Given the description of an element on the screen output the (x, y) to click on. 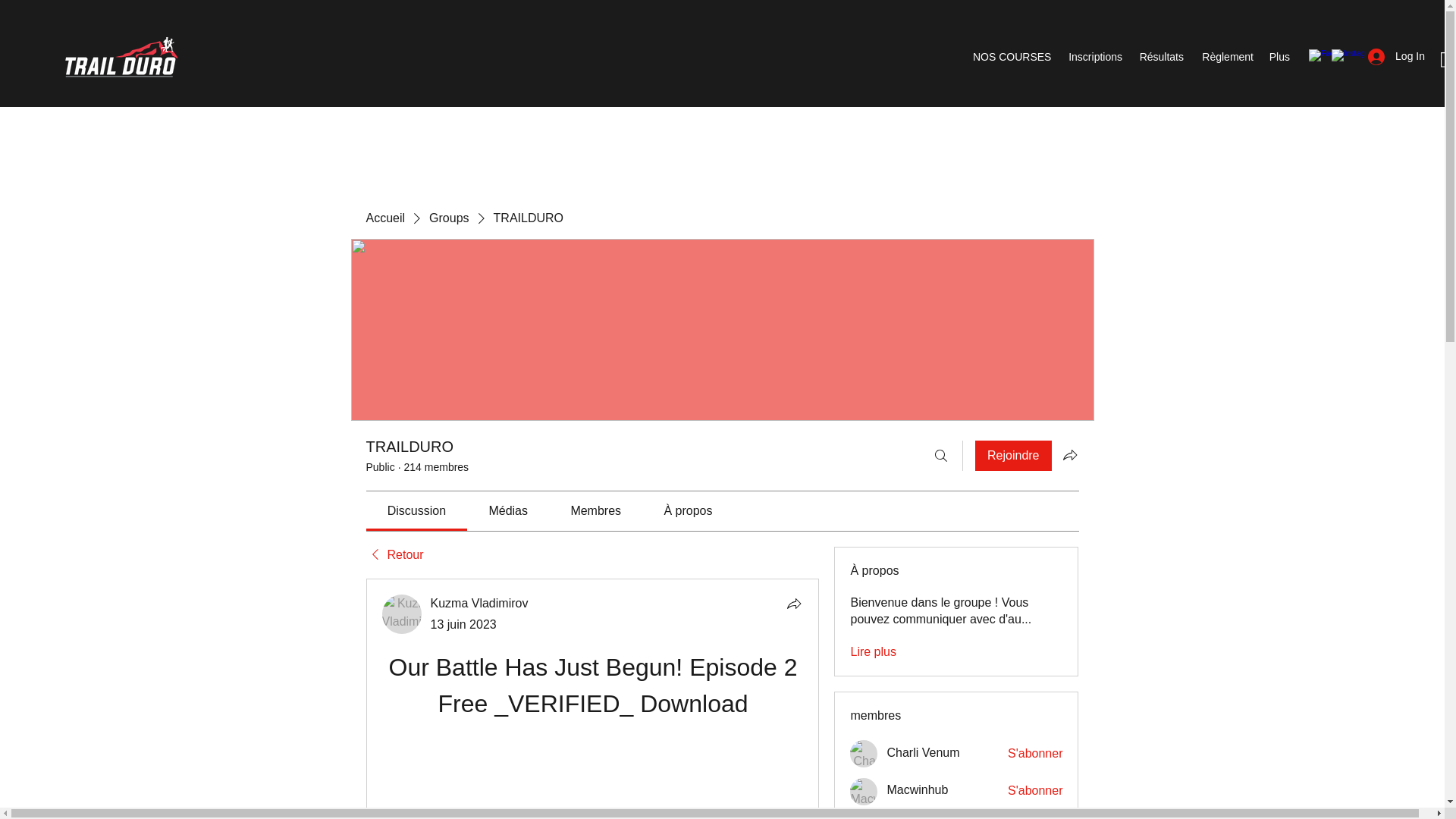
nguyenkhoa070421 (863, 816)
nguyenkhoa070421 (939, 818)
Charli Venum (863, 753)
Groups (448, 217)
Kuzma Vladimirov (401, 613)
Accueil (384, 217)
S'abonner (1034, 790)
Macwinhub (863, 791)
13 juin 2023 (463, 624)
Rejoindre (1013, 455)
